Given the description of an element on the screen output the (x, y) to click on. 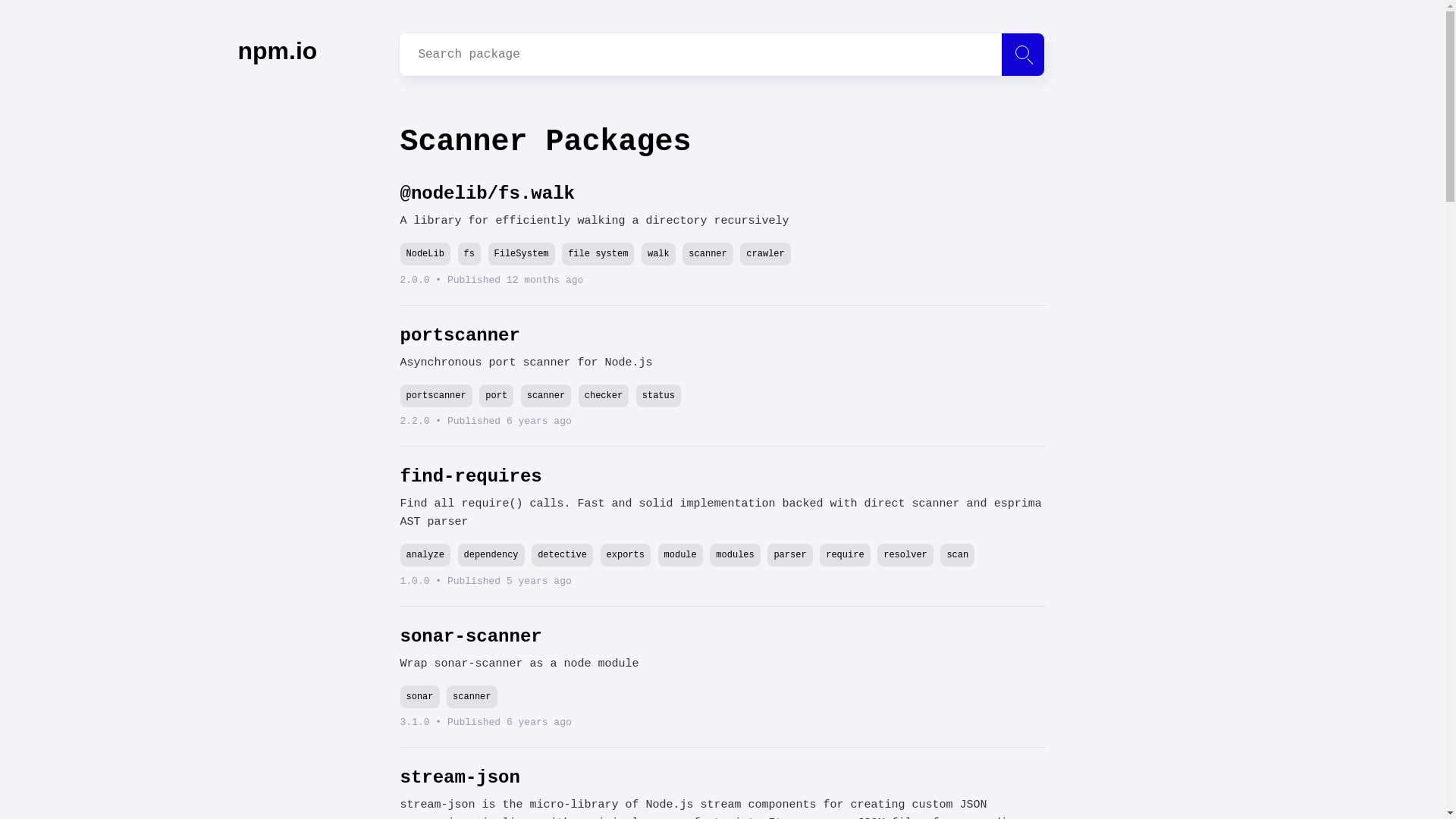
port (496, 395)
module (680, 554)
NodeLib (424, 253)
analyze (424, 554)
npm.io (277, 56)
dependency (491, 554)
scanner (707, 253)
modules (735, 554)
fs (469, 253)
file system (597, 253)
walk (658, 253)
crawler (764, 253)
scan (957, 554)
FileSystem (520, 253)
checker (603, 395)
